Given the description of an element on the screen output the (x, y) to click on. 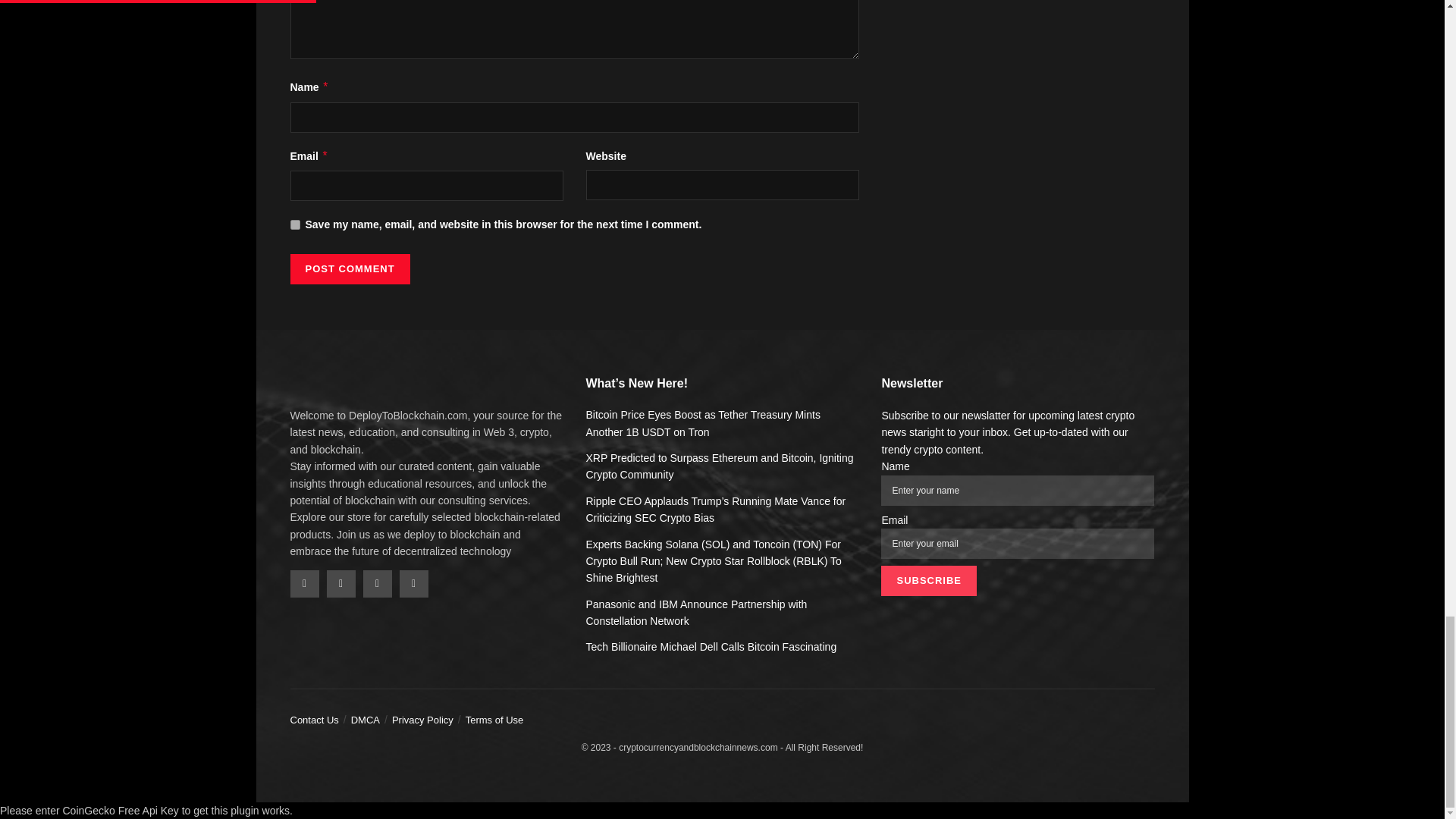
Subscribe (928, 580)
Post Comment (349, 268)
yes (294, 225)
